Given the description of an element on the screen output the (x, y) to click on. 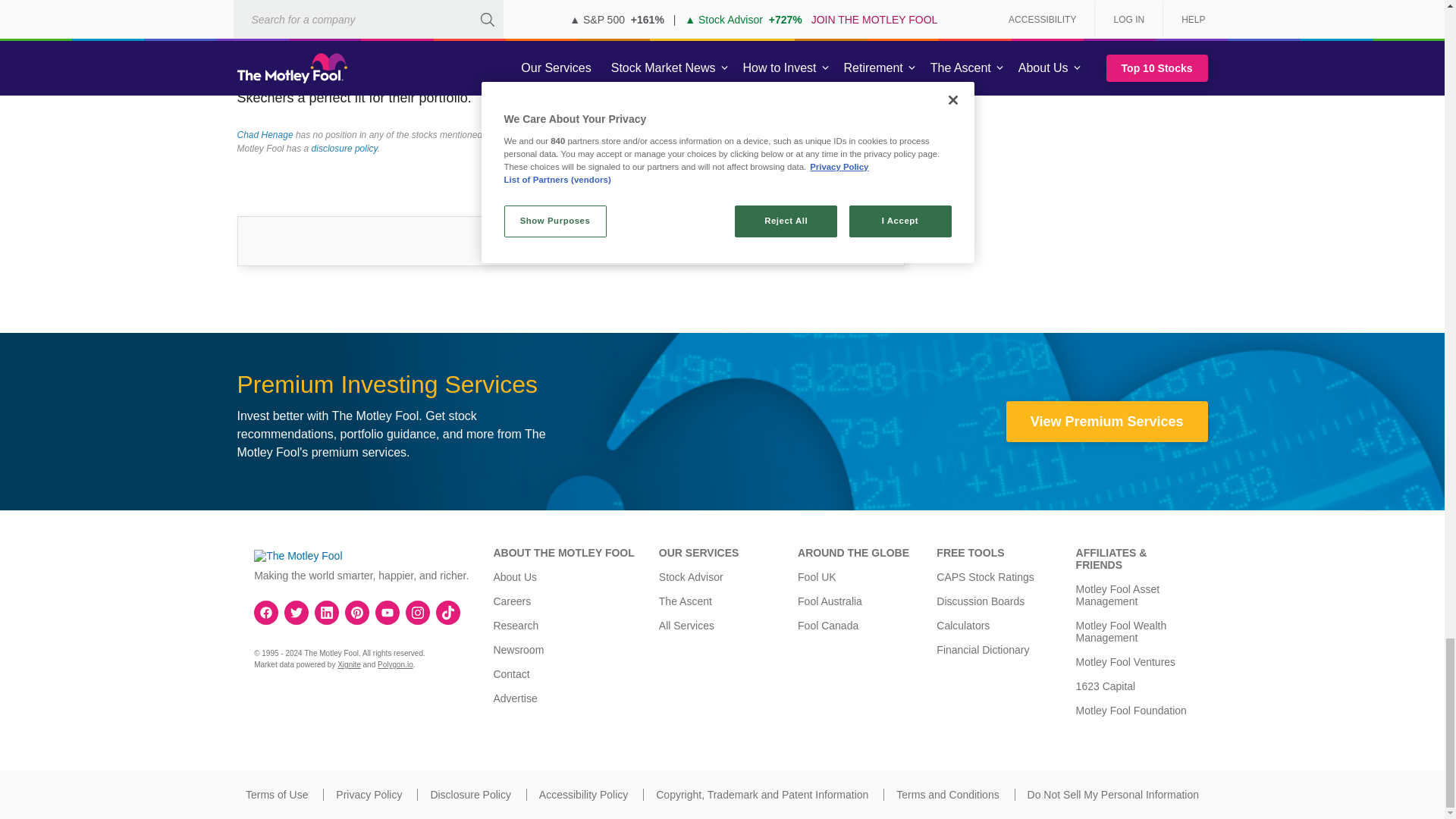
Copyright, Trademark and Patent Information (761, 794)
Terms of Use (276, 794)
Do Not Sell My Personal Information. (1112, 794)
Disclosure Policy (470, 794)
Accessibility Policy (582, 794)
Terms and Conditions (947, 794)
Privacy Policy (368, 794)
